Given the description of an element on the screen output the (x, y) to click on. 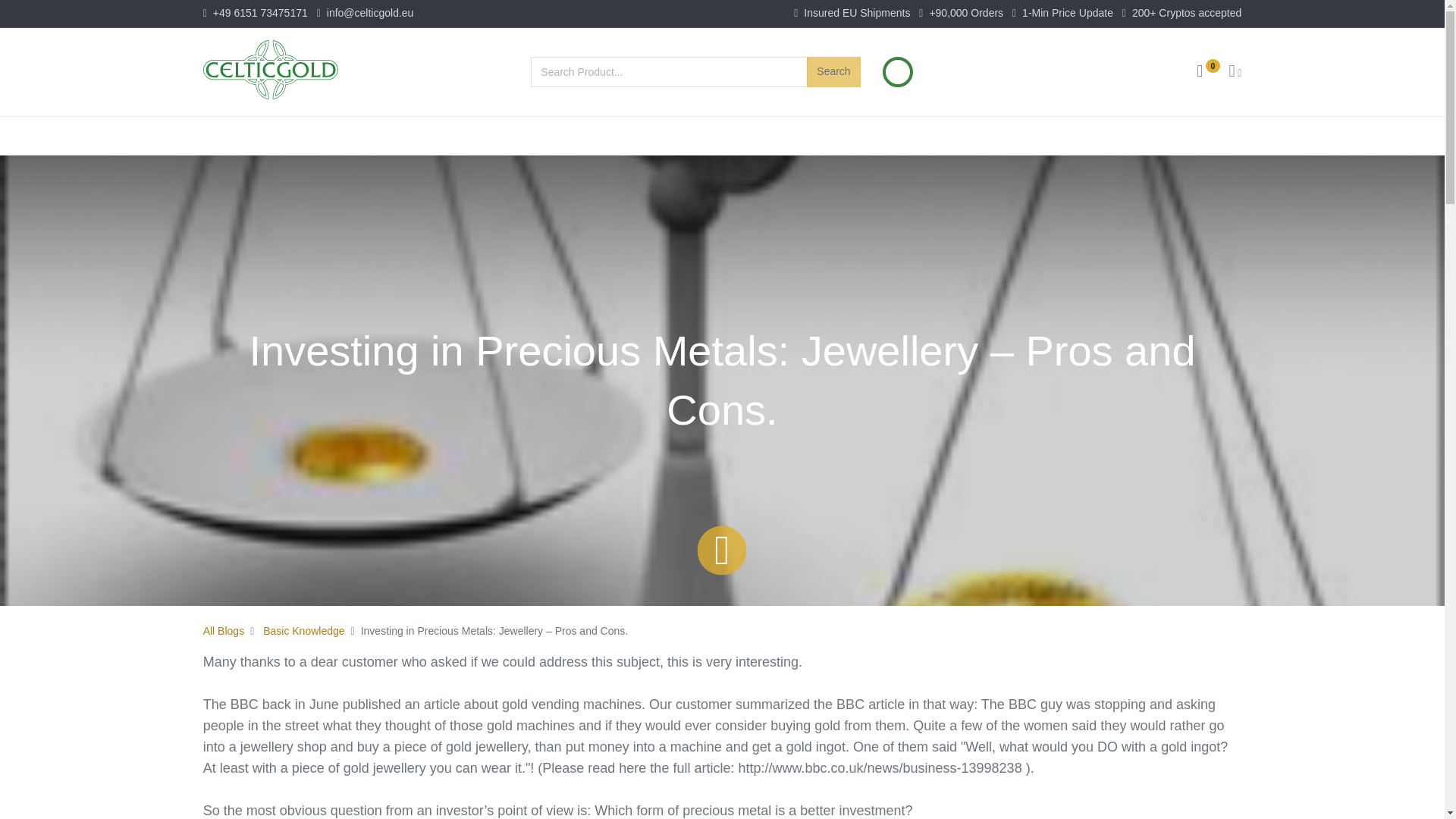
Automatic Price-Update (898, 72)
Search (833, 71)
CelticGold.eu (270, 69)
0 (1208, 72)
